Given the description of an element on the screen output the (x, y) to click on. 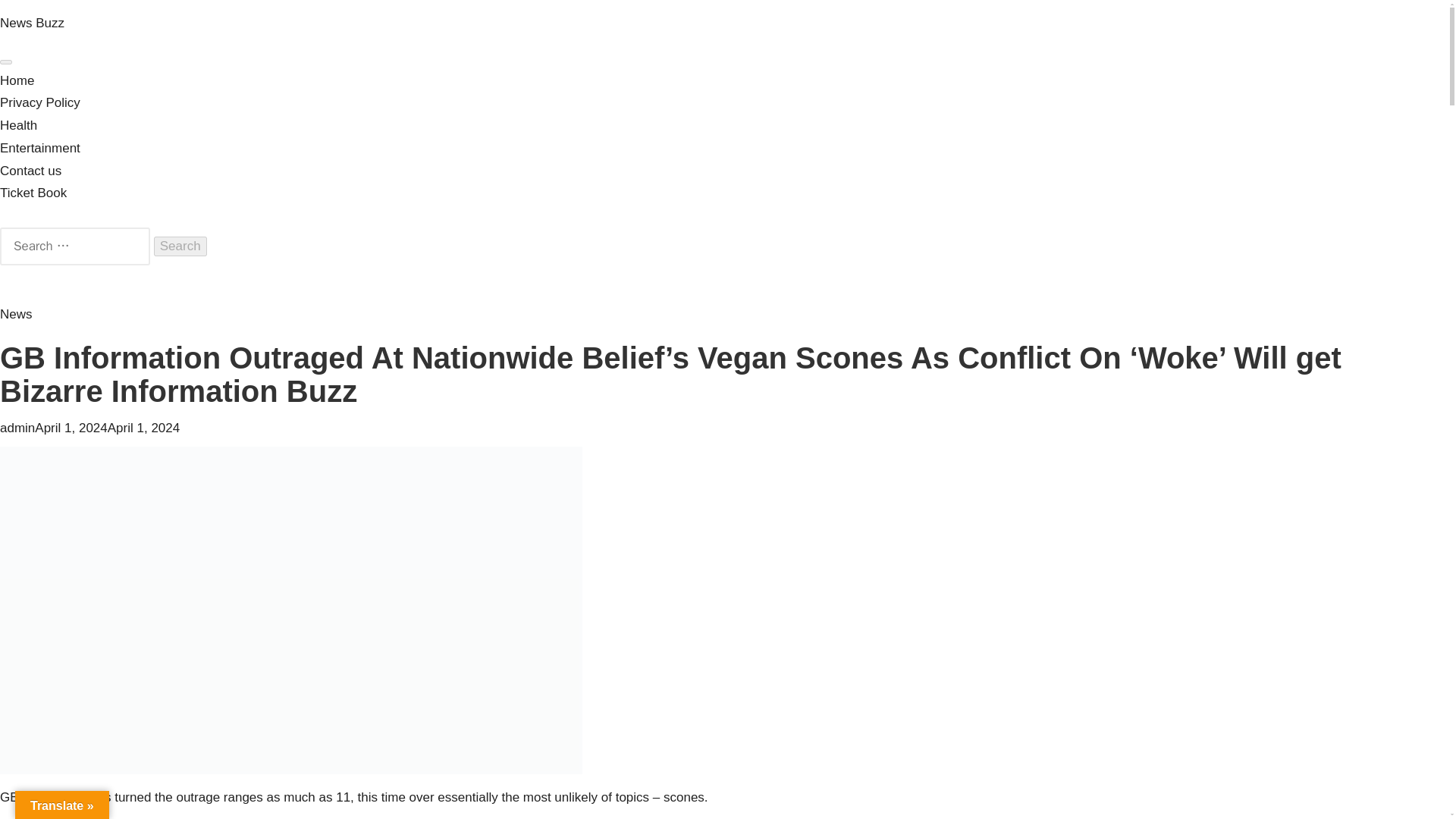
Privacy Policy (40, 102)
Home (16, 79)
Entertainment (40, 147)
News Buzz (32, 22)
April 1, 2024April 1, 2024 (106, 427)
Ticket Book (33, 192)
admin (17, 427)
Search (180, 246)
News (16, 314)
Search (180, 246)
